Given the description of an element on the screen output the (x, y) to click on. 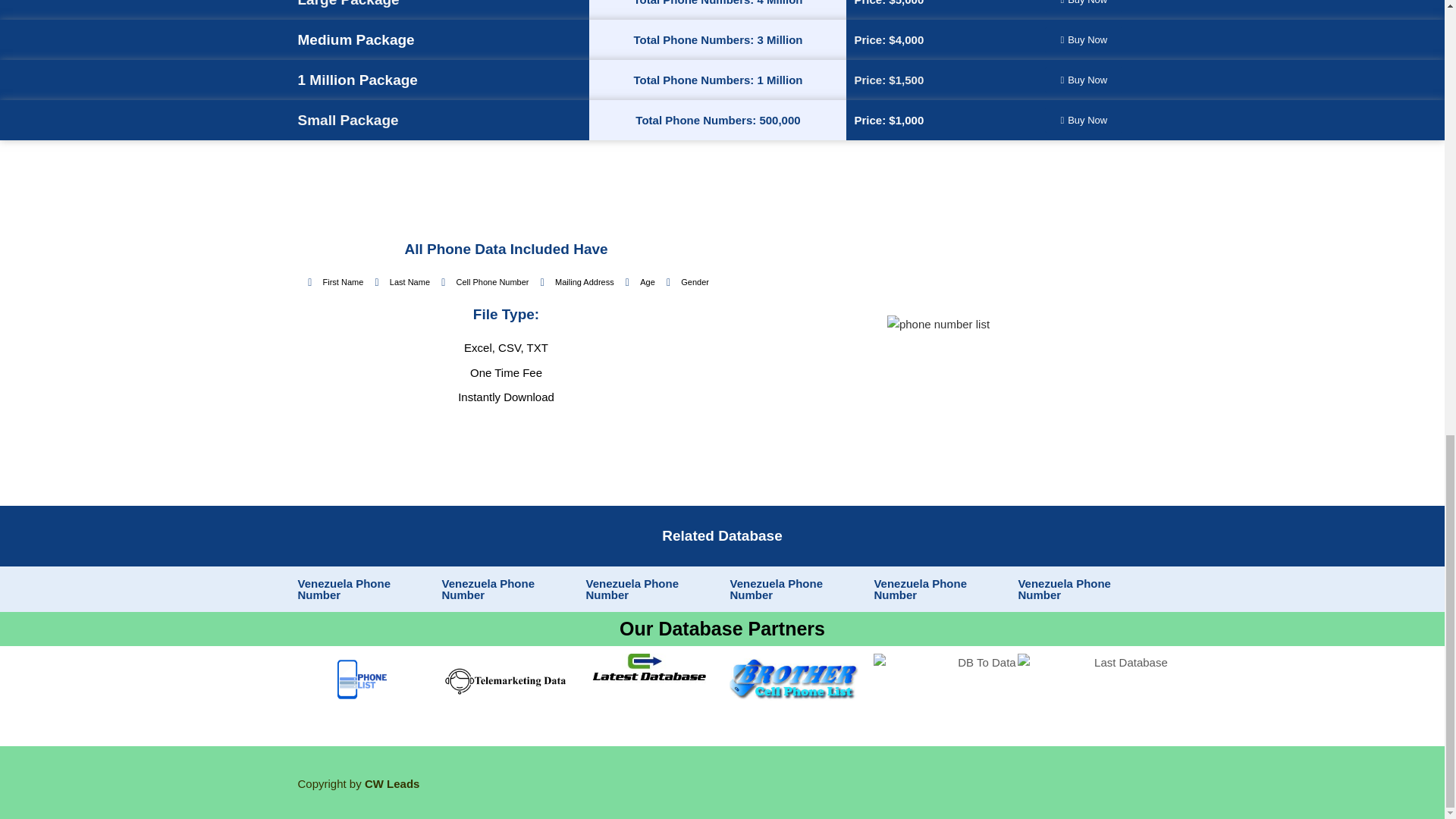
Venezuela Phone Number (343, 589)
Buy Now (1083, 119)
Venezuela Phone Number (631, 589)
CW Leads (392, 783)
Venezuela Phone Number (775, 589)
Venezuela Phone Number (919, 589)
Buy Now (1083, 79)
Buy Now (1083, 39)
Buy Now (1083, 6)
Venezuela Phone Number (487, 589)
